Given the description of an element on the screen output the (x, y) to click on. 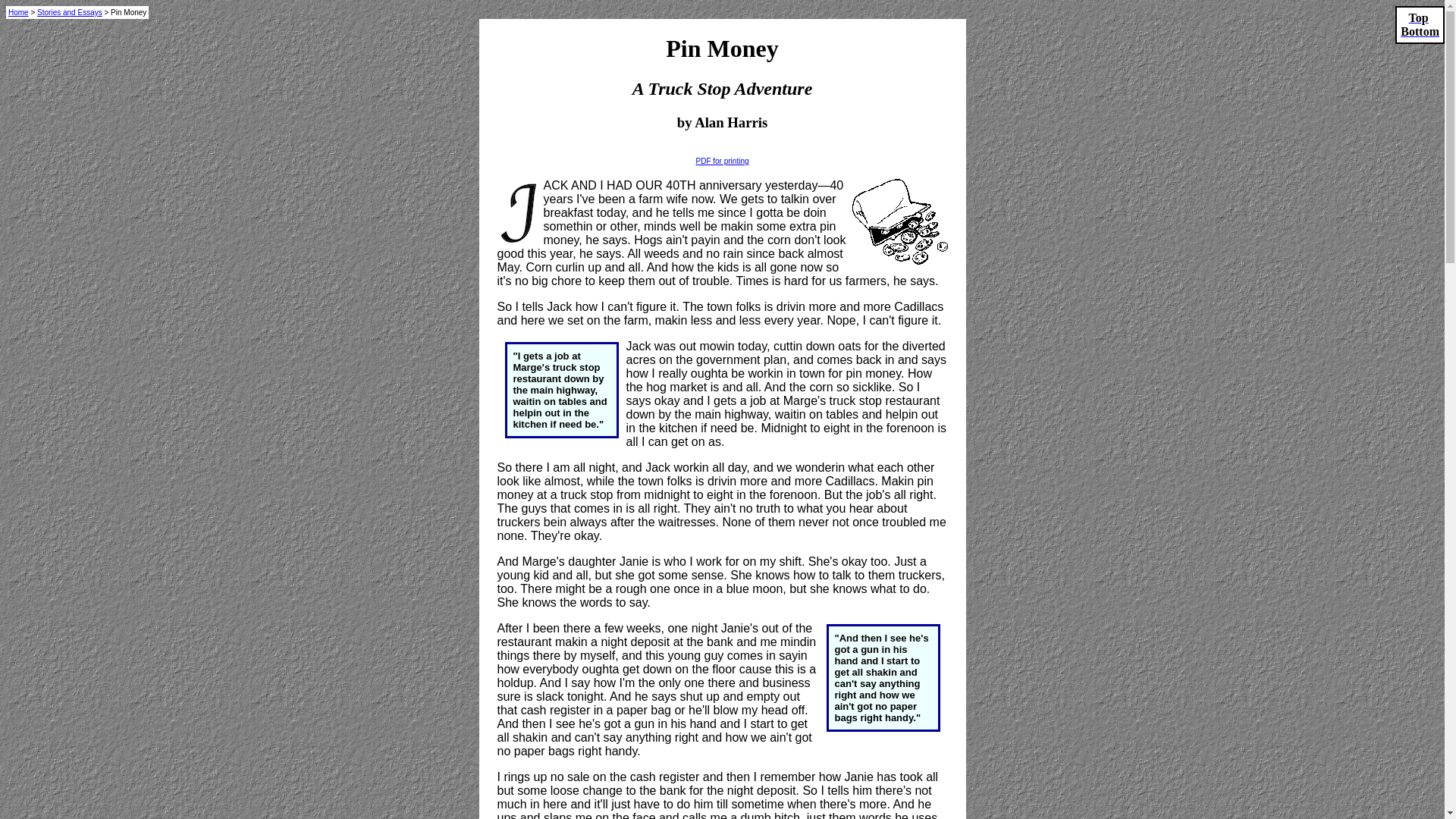
Top (1418, 17)
This story formatted for printing by itself (721, 161)
Stories and Essays (69, 12)
PDF for printing (721, 161)
Bottom (1419, 31)
Home (18, 12)
